Given the description of an element on the screen output the (x, y) to click on. 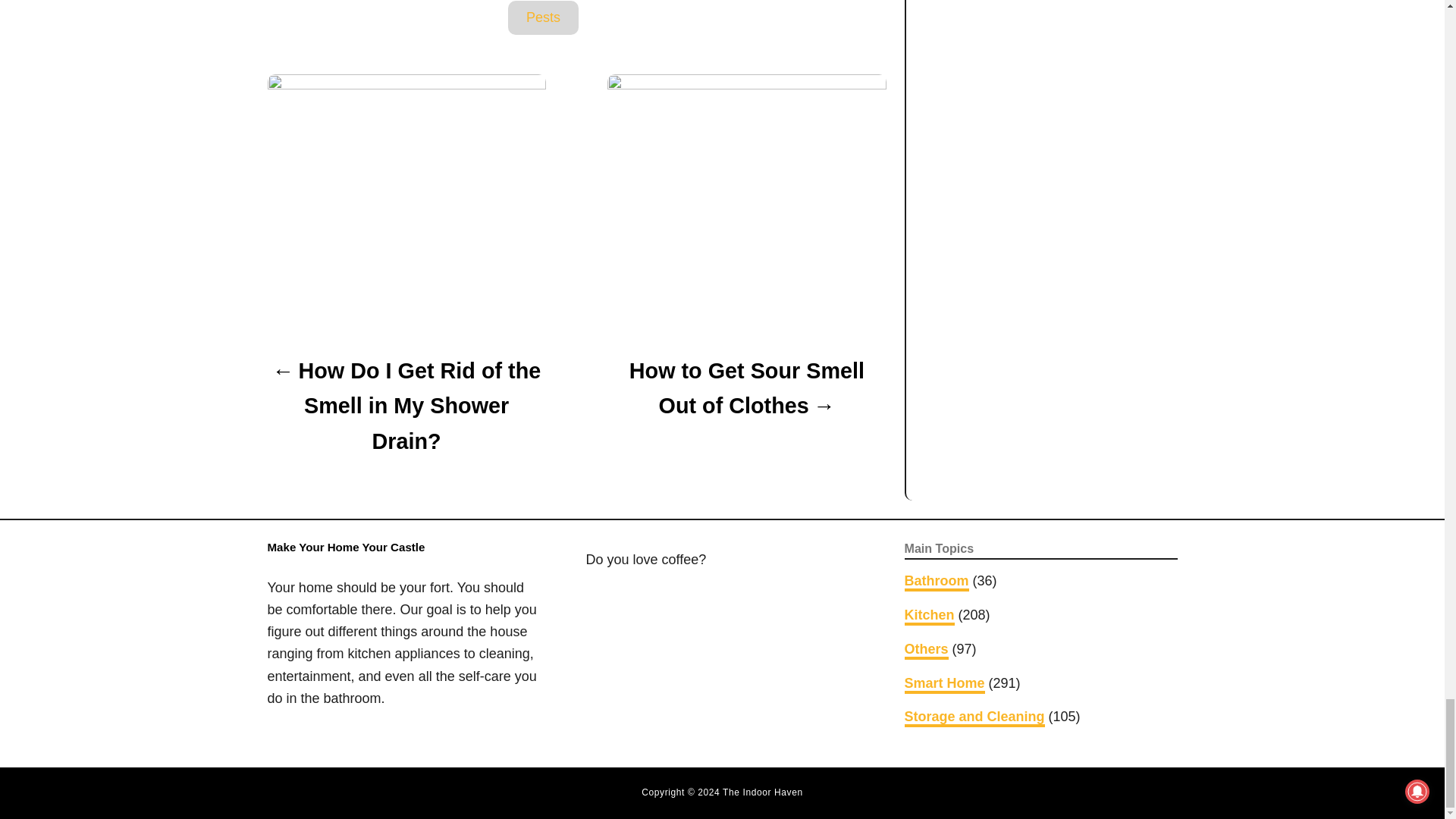
How to Get Sour Smell Out of Clothes (746, 388)
How Do I Get Rid of the Smell in My Shower Drain? (405, 405)
Pests (543, 17)
Smart Home (944, 684)
Kitchen (928, 616)
Others (925, 650)
Storage and Cleaning (973, 718)
Bathroom (936, 582)
